Given the description of an element on the screen output the (x, y) to click on. 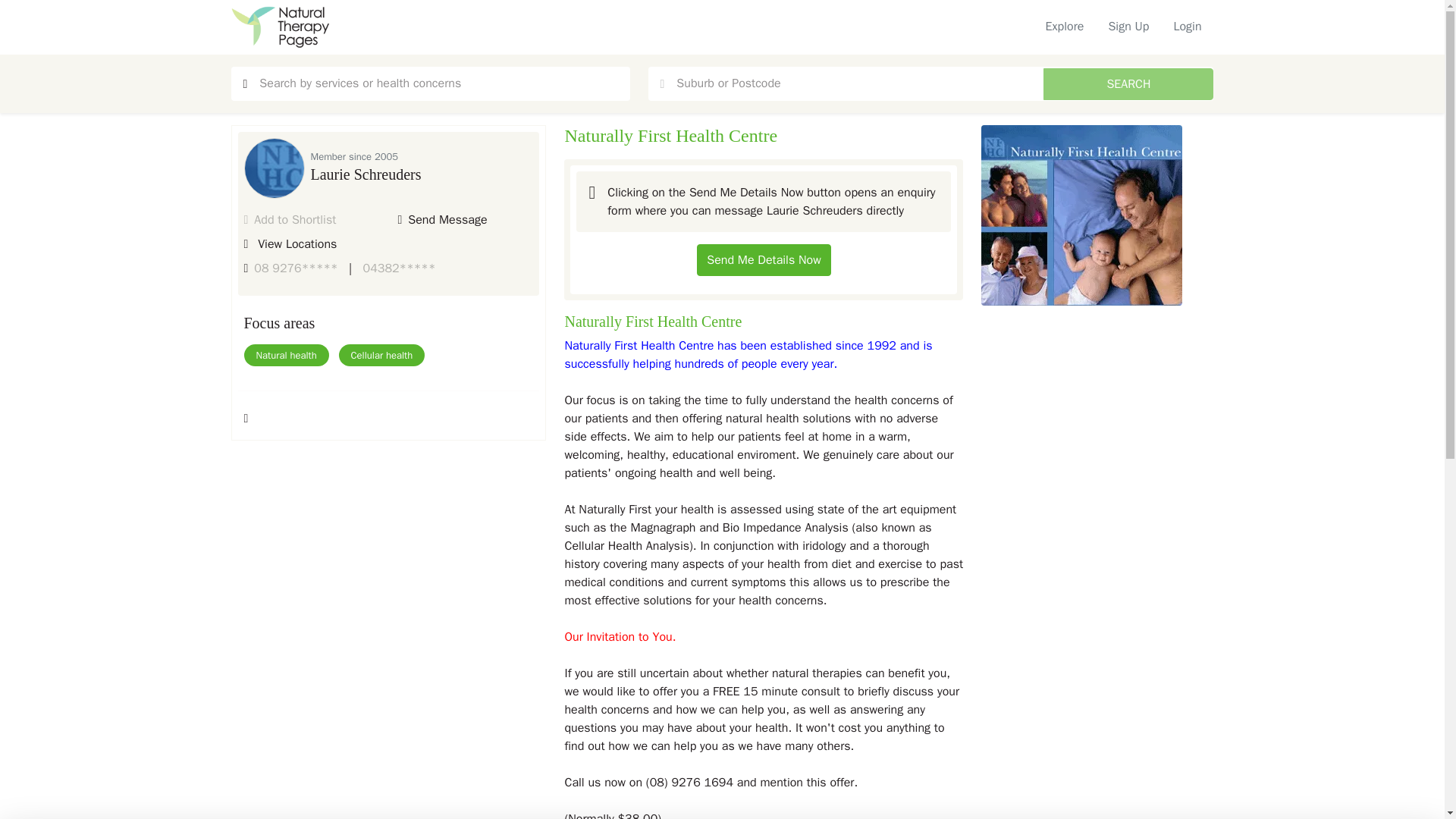
Click to reveal (398, 268)
Login (1186, 27)
Click to reveal (295, 268)
Sign Up (1128, 27)
Add to Shortlist (290, 219)
Explore (1064, 27)
